Given the description of an element on the screen output the (x, y) to click on. 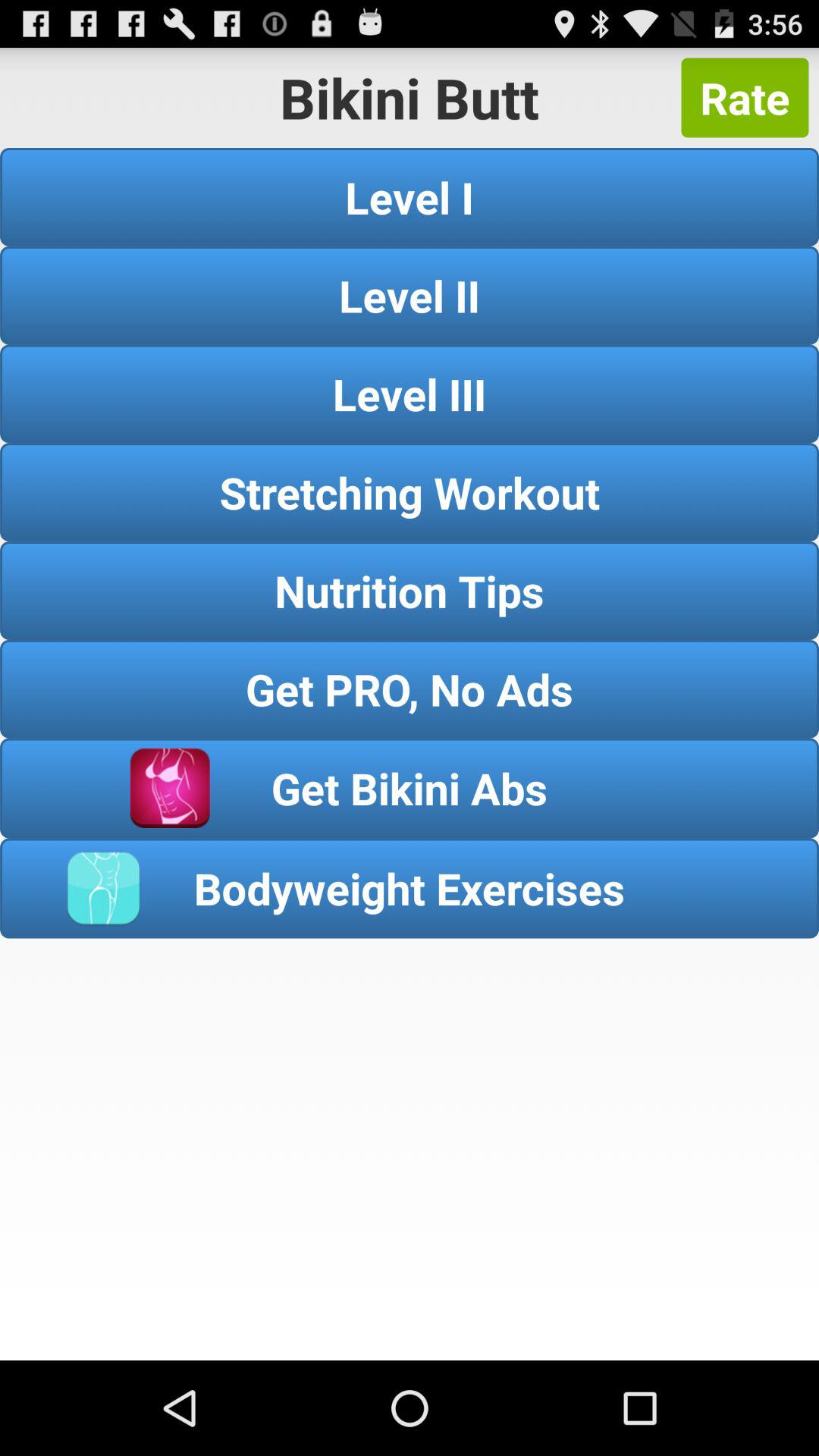
flip until the stretching workout (409, 492)
